Given the description of an element on the screen output the (x, y) to click on. 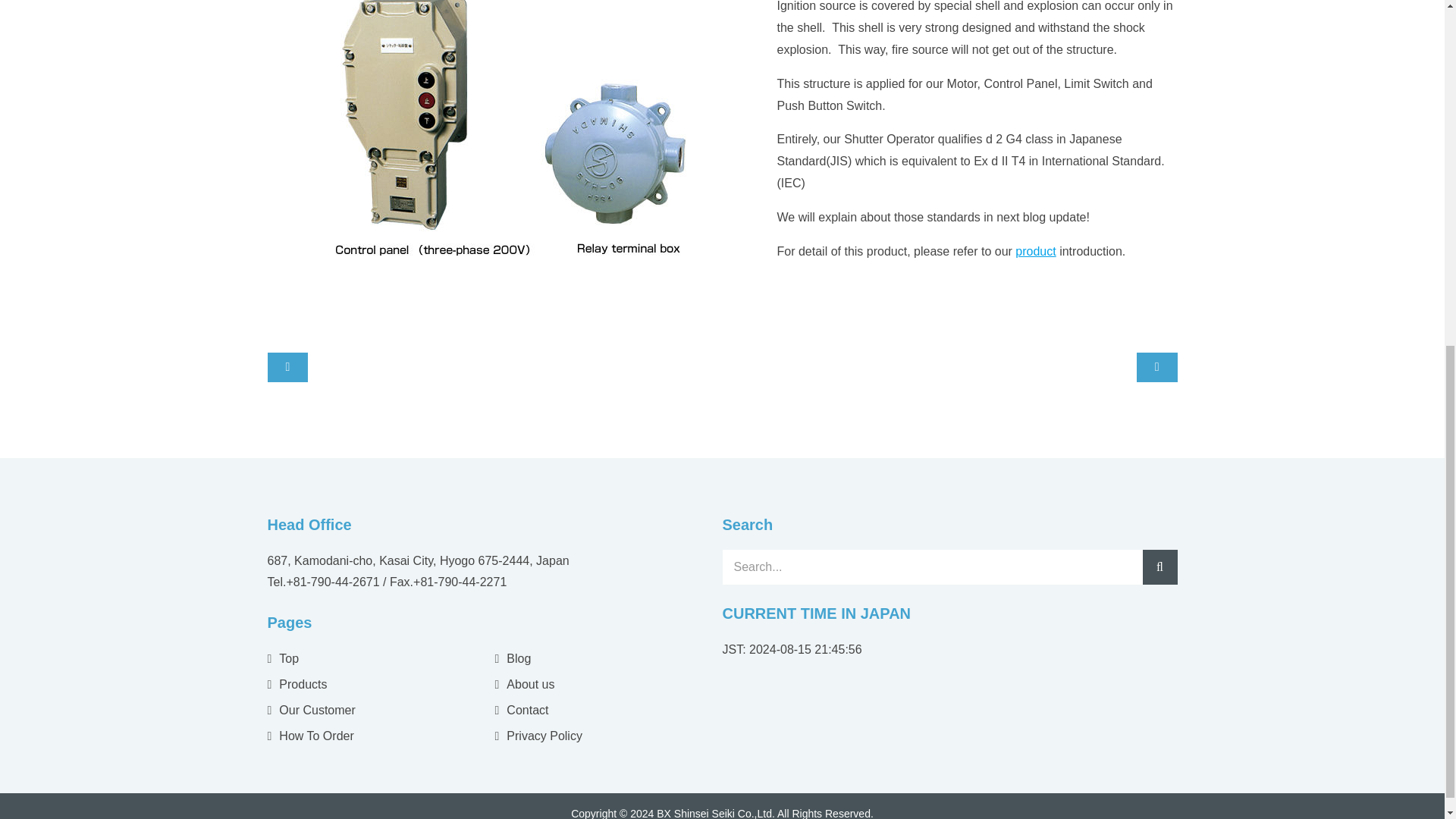
How To Order (309, 735)
Top (282, 658)
Contact (521, 709)
Search in site (931, 566)
About us (524, 684)
product (1034, 250)
Blog (513, 658)
Privacy Policy (537, 735)
Search (1158, 566)
Our Customer (310, 709)
